Given the description of an element on the screen output the (x, y) to click on. 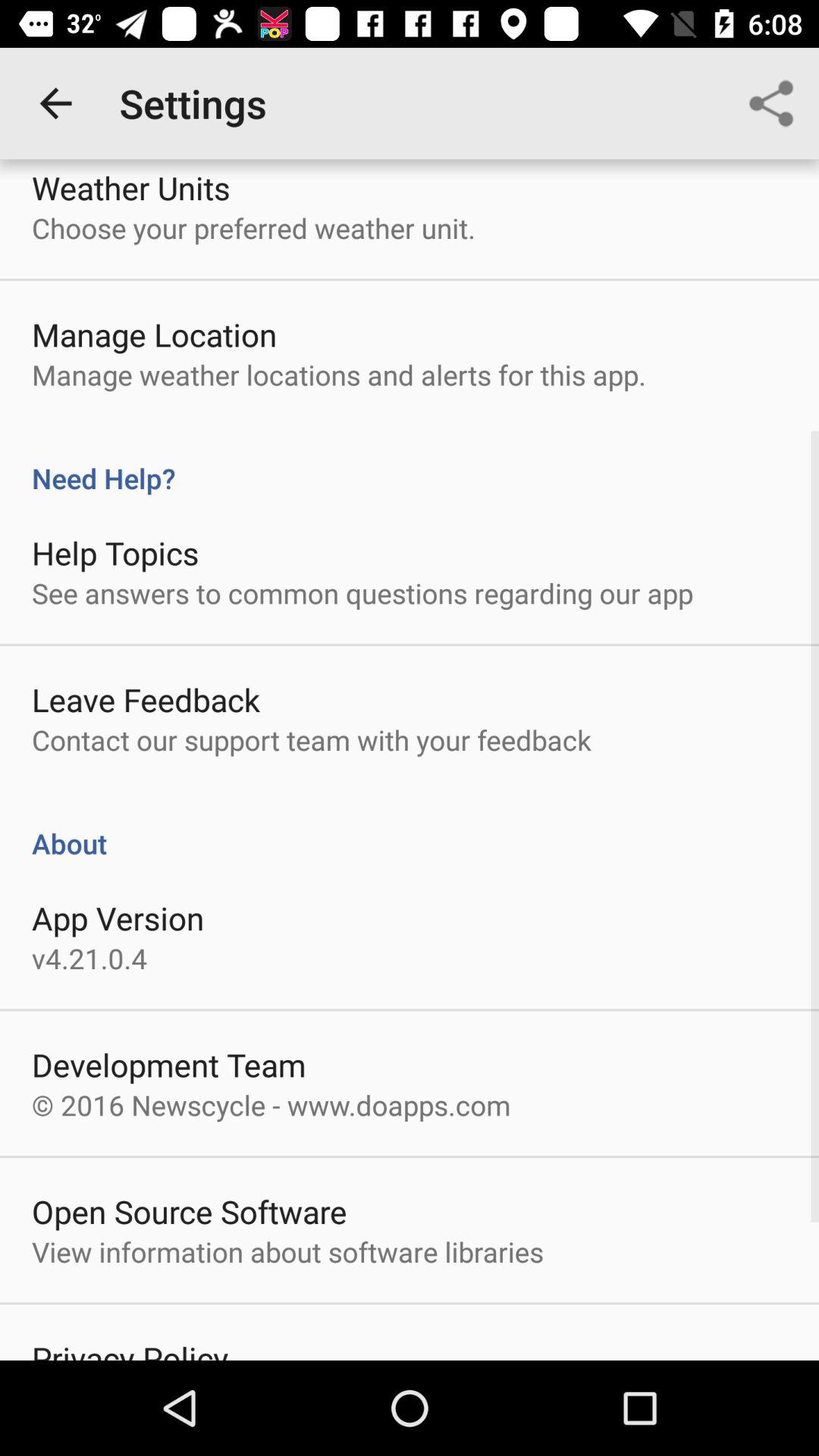
turn on development team icon (168, 1064)
